Given the description of an element on the screen output the (x, y) to click on. 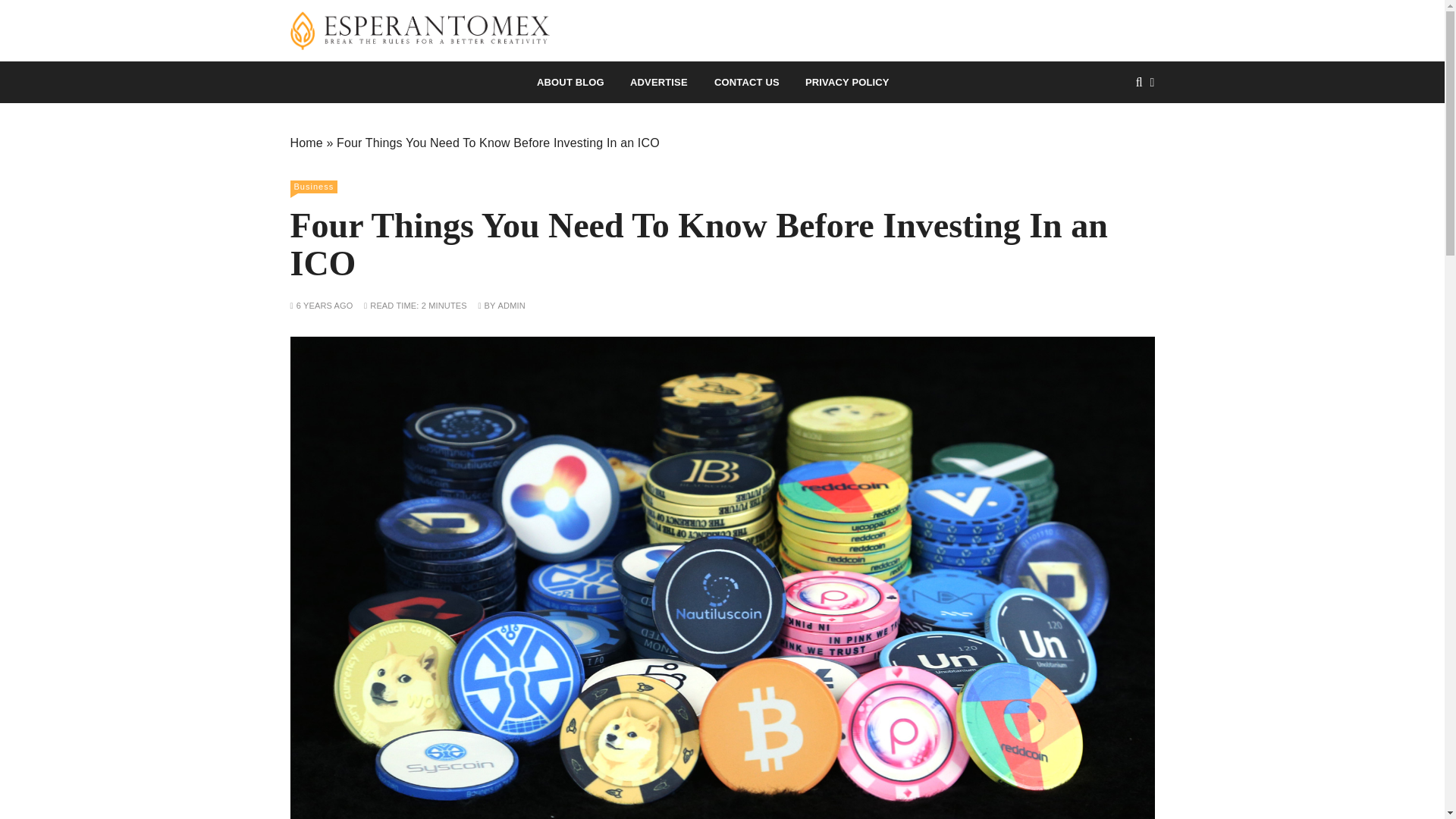
ADVERTISE (658, 82)
PRIVACY POLICY (847, 82)
CONTACT US (746, 82)
ADMIN (511, 306)
ABOUT BLOG (570, 82)
Home (305, 142)
Business (313, 186)
Break the Rules for a Better Creativity (617, 75)
